Given the description of an element on the screen output the (x, y) to click on. 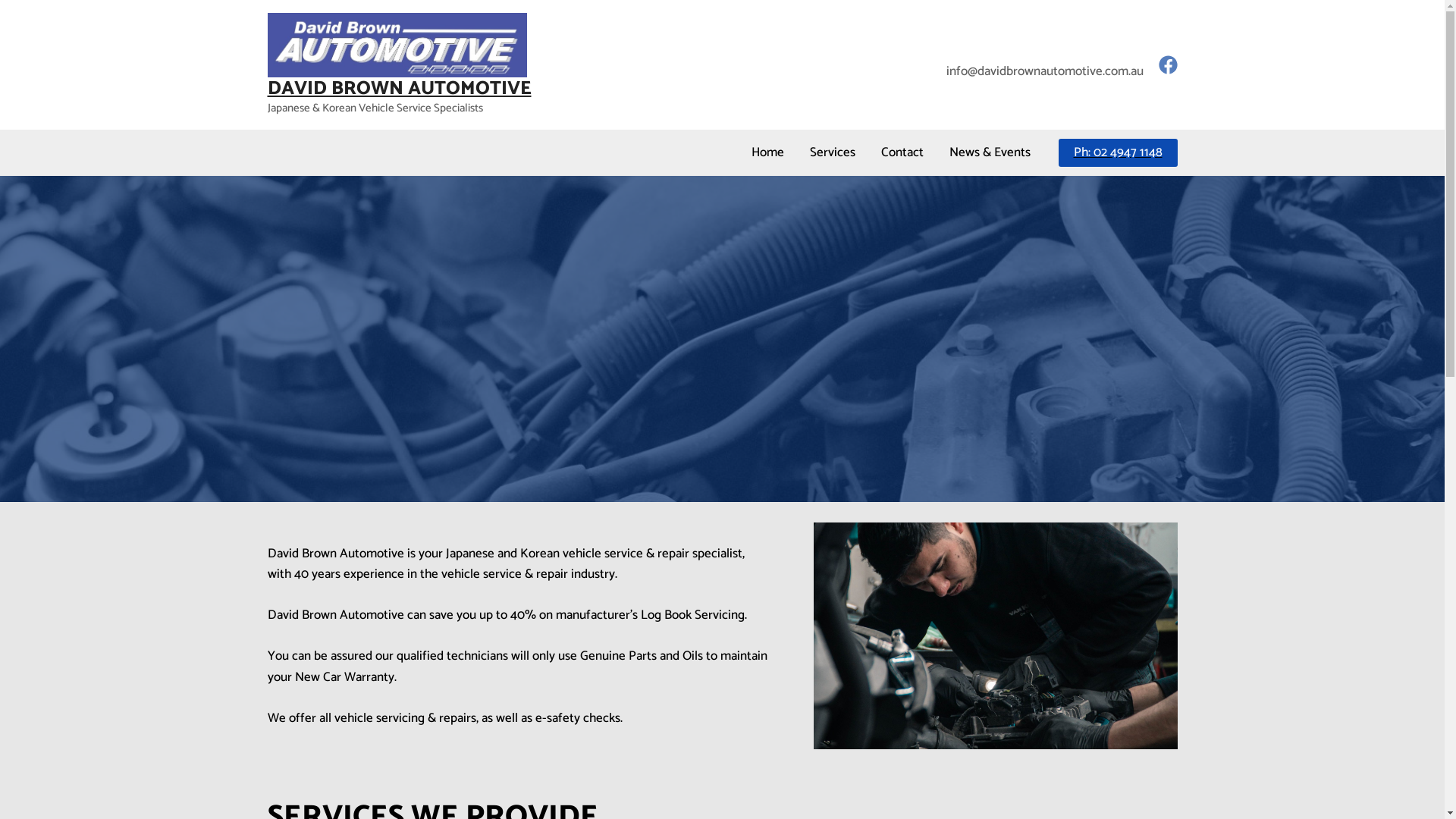
Ph: 02 4947 1148 Element type: text (1117, 152)
Contact Element type: text (901, 152)
DAVID BROWN AUTOMOTIVE Element type: text (398, 88)
Home Element type: text (767, 152)
Services Element type: text (831, 152)
News & Events Element type: text (988, 152)
